Given the description of an element on the screen output the (x, y) to click on. 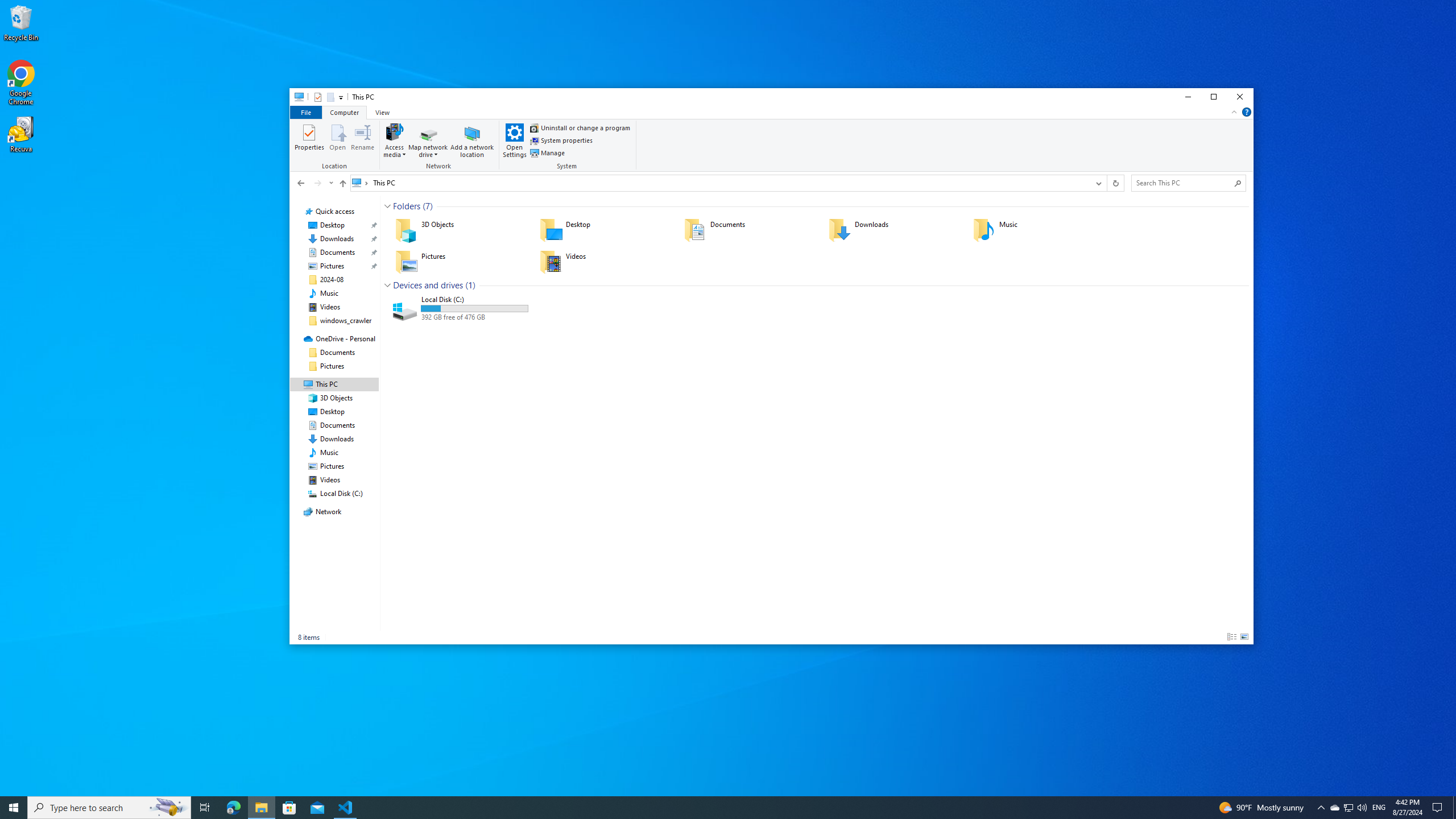
Search (1238, 182)
Videos (329, 306)
Quick access (334, 211)
Collapse Group (386, 285)
Map network drive (428, 150)
Up to "Desktop" (Alt + Up Arrow) (342, 183)
Maximize (1214, 96)
Computer (343, 111)
Address: This PC (719, 182)
Running applications (706, 807)
Uninstall or change a program (579, 128)
Manage (547, 152)
Refresh "This PC" (F5) (1115, 182)
